Given the description of an element on the screen output the (x, y) to click on. 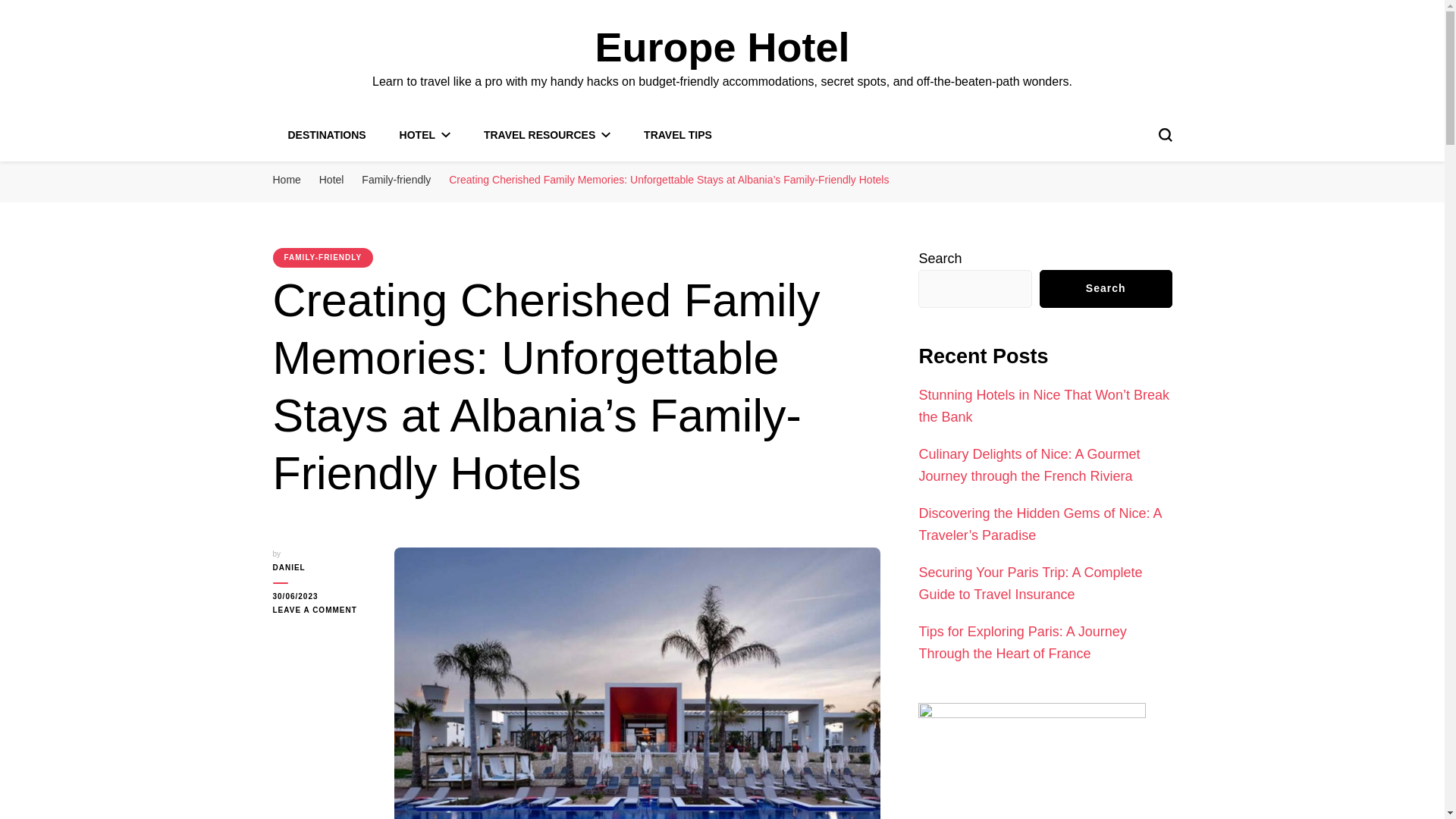
TRAVEL TIPS (677, 134)
Home (287, 179)
Hotel (330, 179)
TRAVEL RESOURCES (546, 134)
Europe Hotel (721, 46)
HOTEL (423, 134)
DESTINATIONS (327, 134)
